Given the description of an element on the screen output the (x, y) to click on. 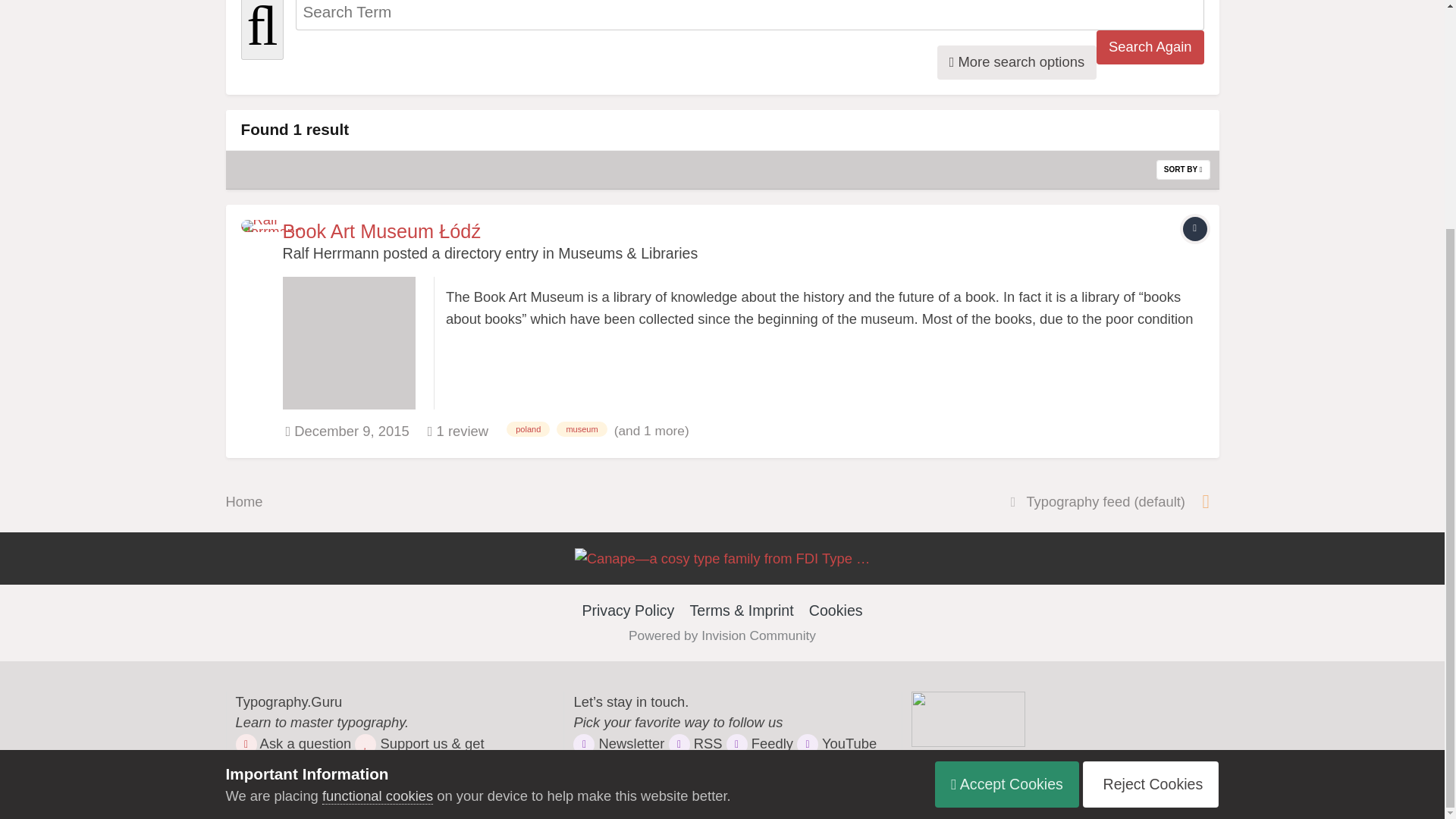
Find other content tagged with 'poland' (528, 428)
Home (244, 501)
Go to Ralf Herrmann's profile (258, 236)
Go to Ralf Herrmann's profile (330, 252)
Find other content tagged with 'museum' (581, 428)
Available RSS feeds (1206, 501)
Invision Community (721, 635)
Directory entry (1194, 228)
